Given the description of an element on the screen output the (x, y) to click on. 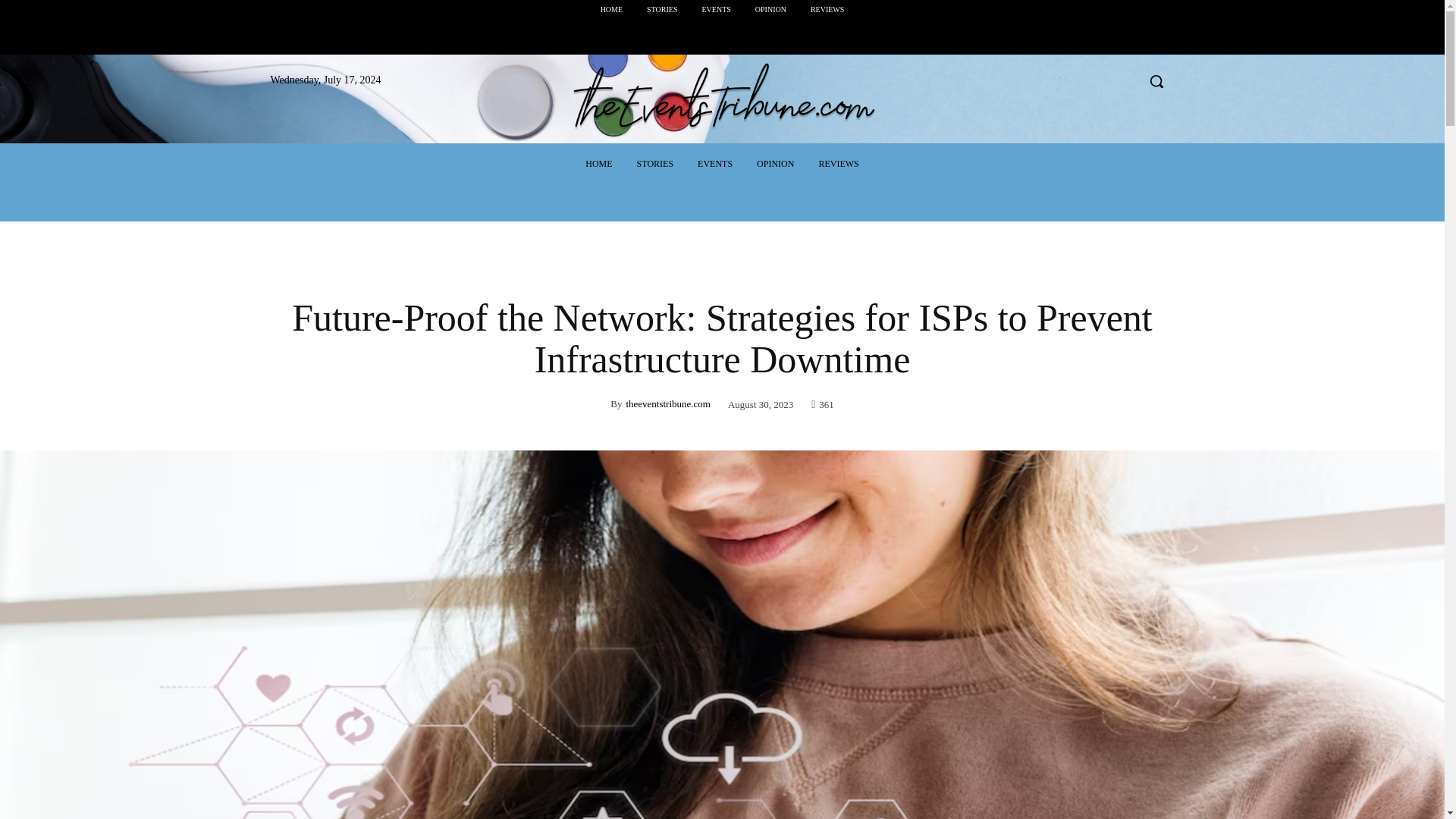
HOME (598, 164)
HOME (611, 9)
OPINION (769, 9)
OPINION (775, 164)
theeventstribune.com (668, 403)
STORIES (661, 9)
EVENTS (715, 9)
REVIEWS (826, 9)
STORIES (654, 164)
EVENTS (714, 164)
REVIEWS (838, 164)
